Given the description of an element on the screen output the (x, y) to click on. 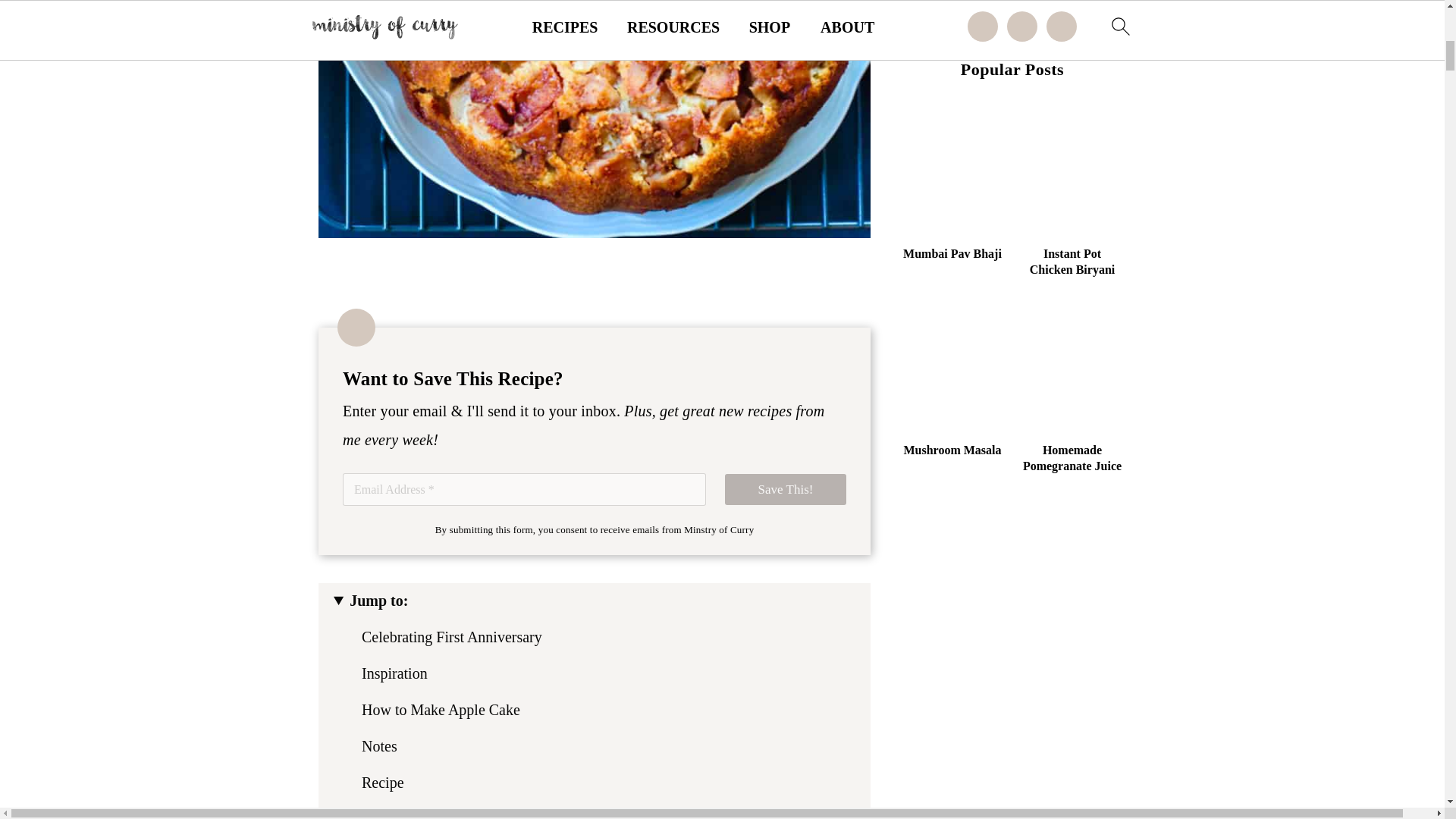
Celebrating First Anniversary (451, 636)
Save This! (785, 489)
